Given the description of an element on the screen output the (x, y) to click on. 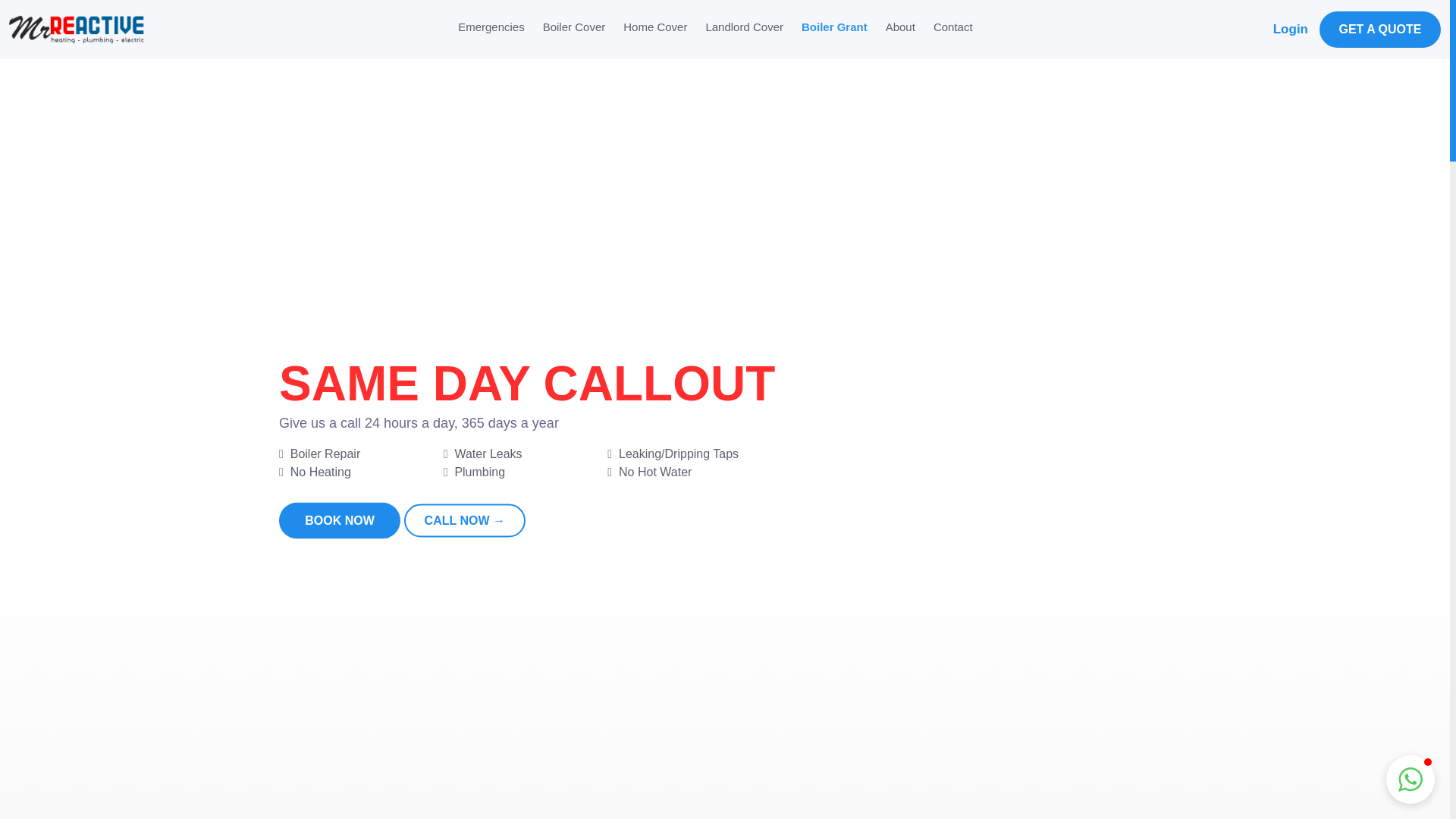
Home Cover (654, 27)
GET A QUOTE (1380, 29)
Boiler Cover (574, 27)
Landlord Cover (743, 27)
Contact (952, 27)
Emergencies (491, 27)
BOOK NOW (339, 520)
Boiler Grant (834, 27)
Login (1289, 29)
About (900, 27)
